Given the description of an element on the screen output the (x, y) to click on. 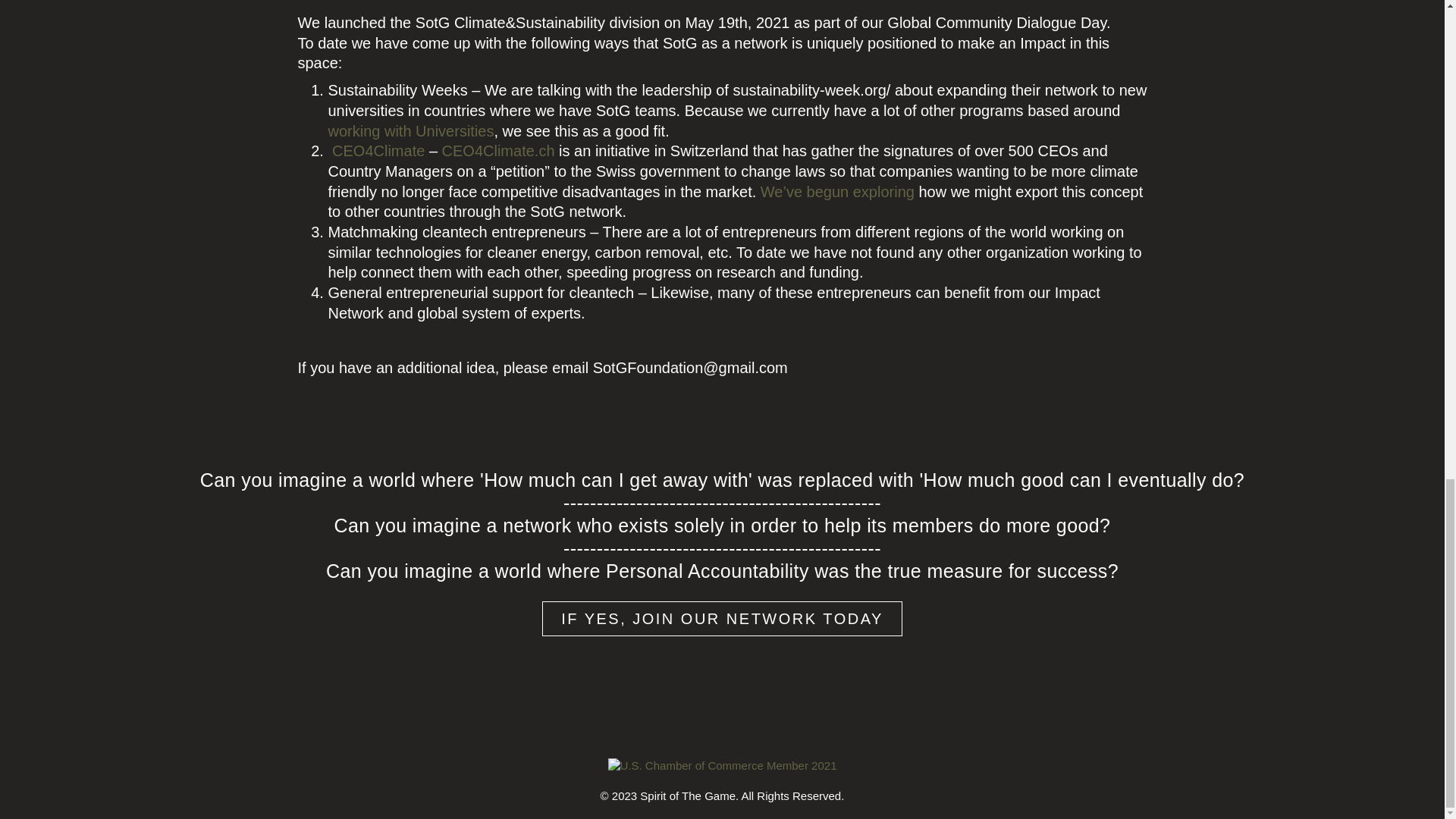
U.S. Chamber of Commerce Member (722, 765)
